Given the description of an element on the screen output the (x, y) to click on. 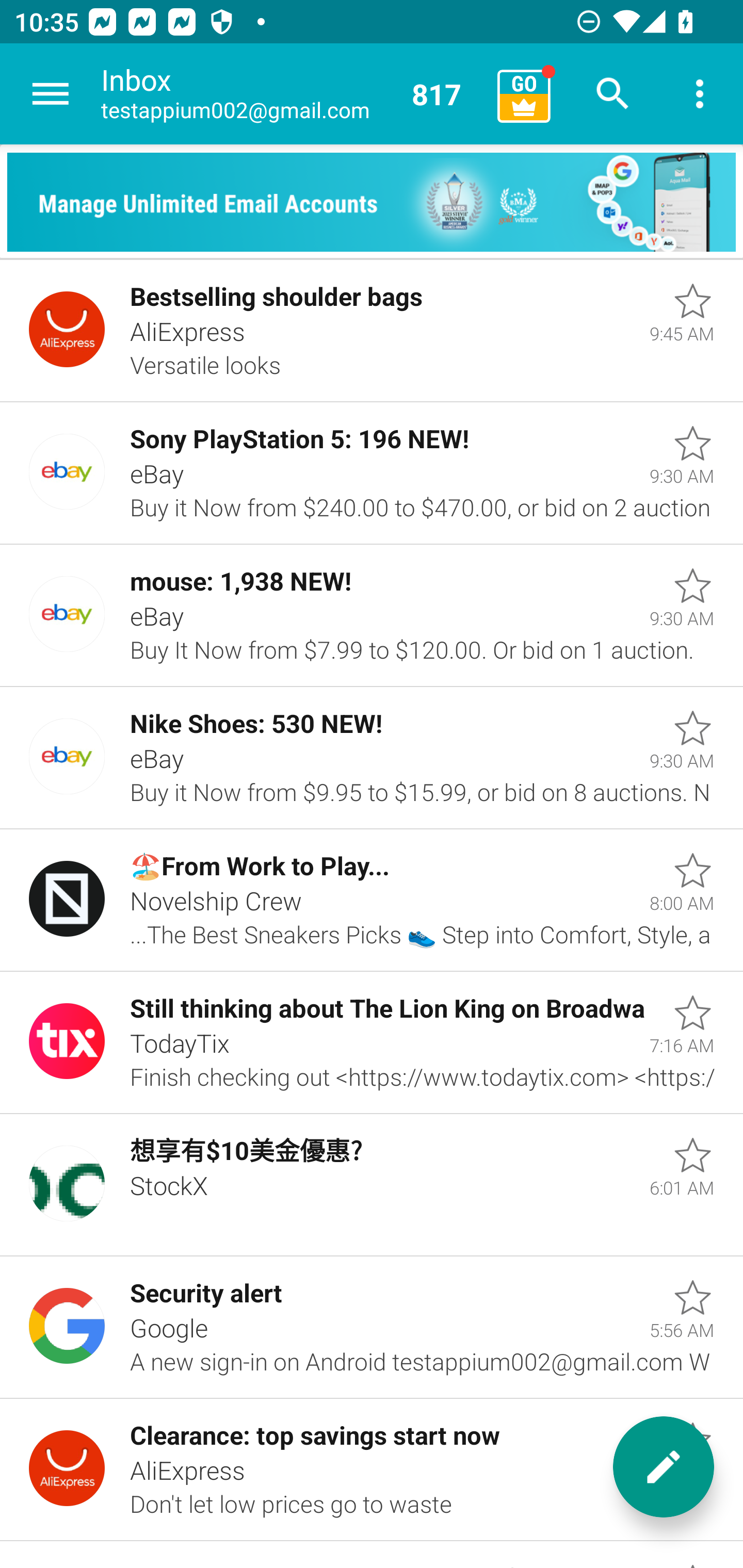
Navigate up (50, 93)
Inbox testappium002@gmail.com 817 (291, 93)
Search (612, 93)
More options (699, 93)
Unread, 想享有$10美金優惠?, StockX, 6:01 AM (371, 1184)
New message (663, 1466)
